Given the description of an element on the screen output the (x, y) to click on. 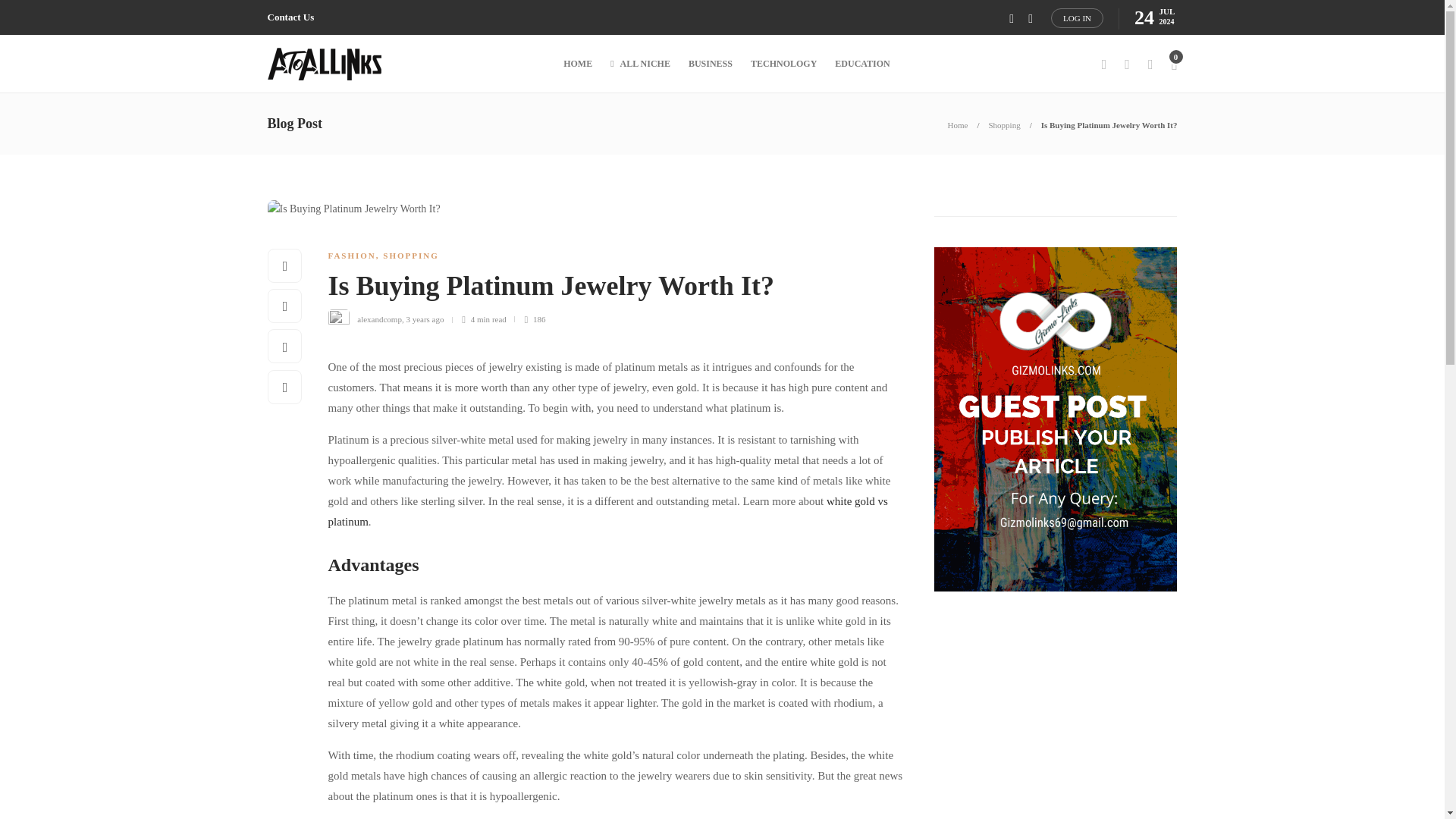
Is Buying Platinum Jewelry Worth It?  (603, 290)
Shopping (1004, 124)
EDUCATION (861, 63)
Is Buying Platinum Jewelry Worth It? (1109, 124)
LOG IN (1077, 17)
TECHNOLOGY (783, 63)
Home (957, 124)
FASHION (351, 255)
Contact Us (290, 17)
Home (957, 124)
SHOPPING (410, 255)
ALL NICHE (639, 63)
